Given the description of an element on the screen output the (x, y) to click on. 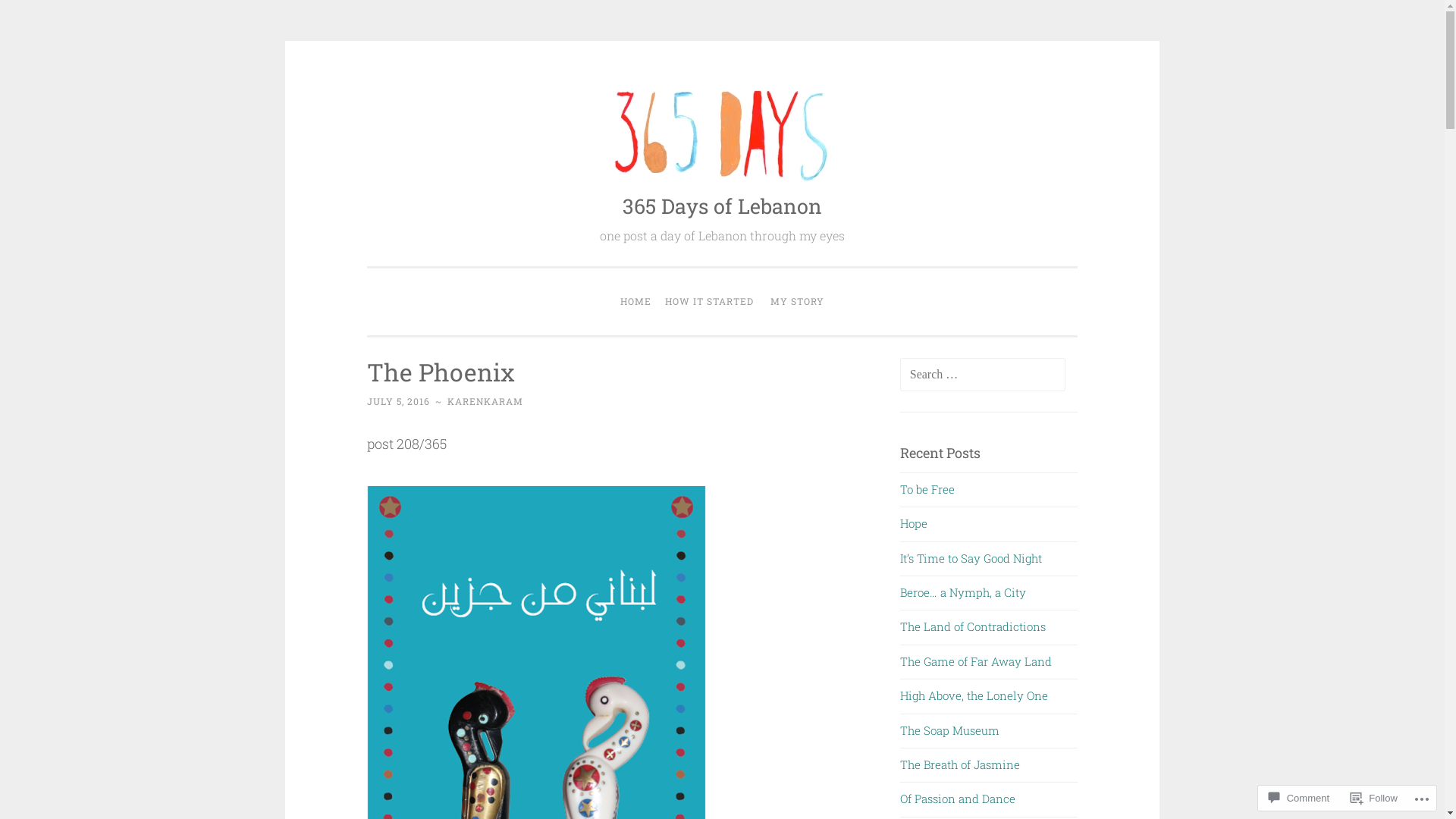
MY STORY Element type: text (797, 301)
HOW IT STARTED Element type: text (709, 301)
HOME Element type: text (635, 301)
To be Free Element type: text (927, 488)
The Breath of Jasmine Element type: text (959, 763)
365 Days of Lebanon Element type: text (722, 205)
Hope Element type: text (913, 522)
JULY 5, 2016 Element type: text (398, 401)
High Above, the Lonely One Element type: text (974, 694)
The Game of Far Away Land Element type: text (975, 660)
Follow Element type: text (1373, 797)
The Land of Contradictions Element type: text (972, 625)
Of Passion and Dance  Element type: text (959, 798)
Search Element type: text (39, 17)
The Soap Museum Element type: text (949, 729)
Comment Element type: text (1298, 797)
KARENKARAM Element type: text (485, 401)
